Given the description of an element on the screen output the (x, y) to click on. 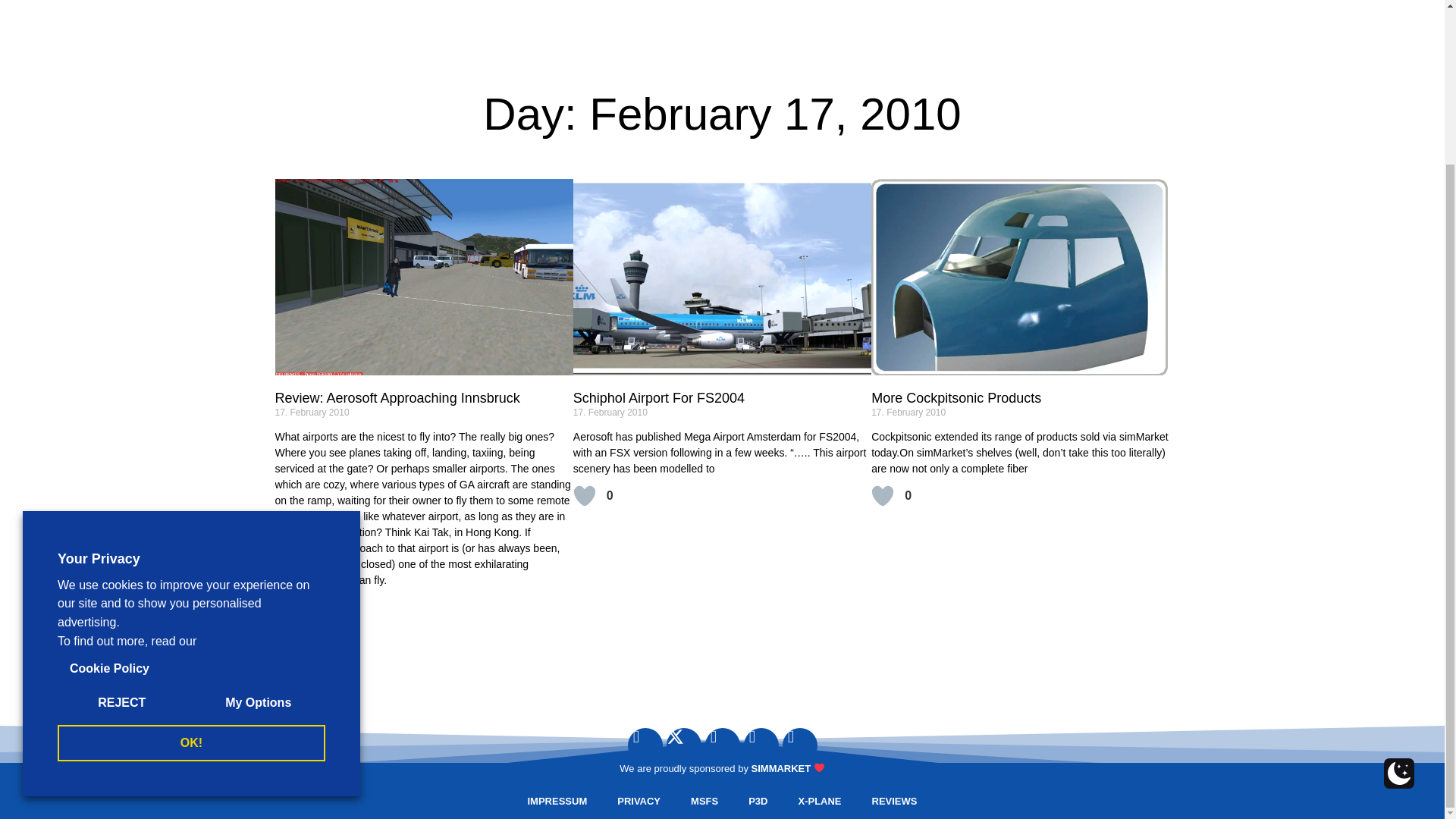
Cookie Policy (109, 473)
We are proudly sponsored by SIMMARKET (721, 767)
OK! (191, 547)
Schiphol Airport For FS2004 (658, 397)
My Options (257, 507)
Review: Aerosoft Approaching Innsbruck (397, 397)
More Cockpitsonic Products (955, 397)
REJECT (122, 507)
